Given the description of an element on the screen output the (x, y) to click on. 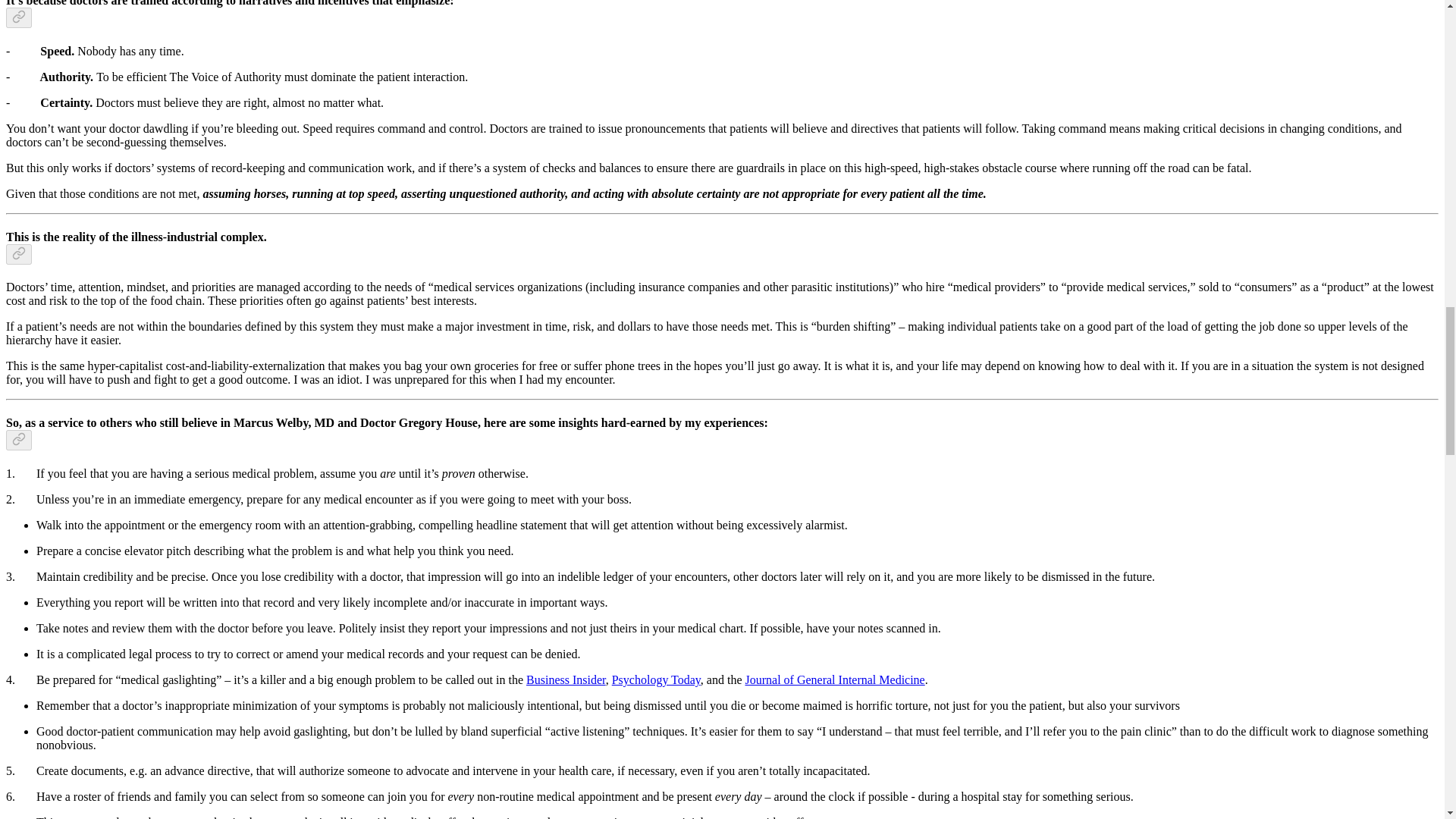
Business Insider (565, 679)
Journal of General Internal Medicine (834, 679)
Psychology Today (655, 679)
